Given the description of an element on the screen output the (x, y) to click on. 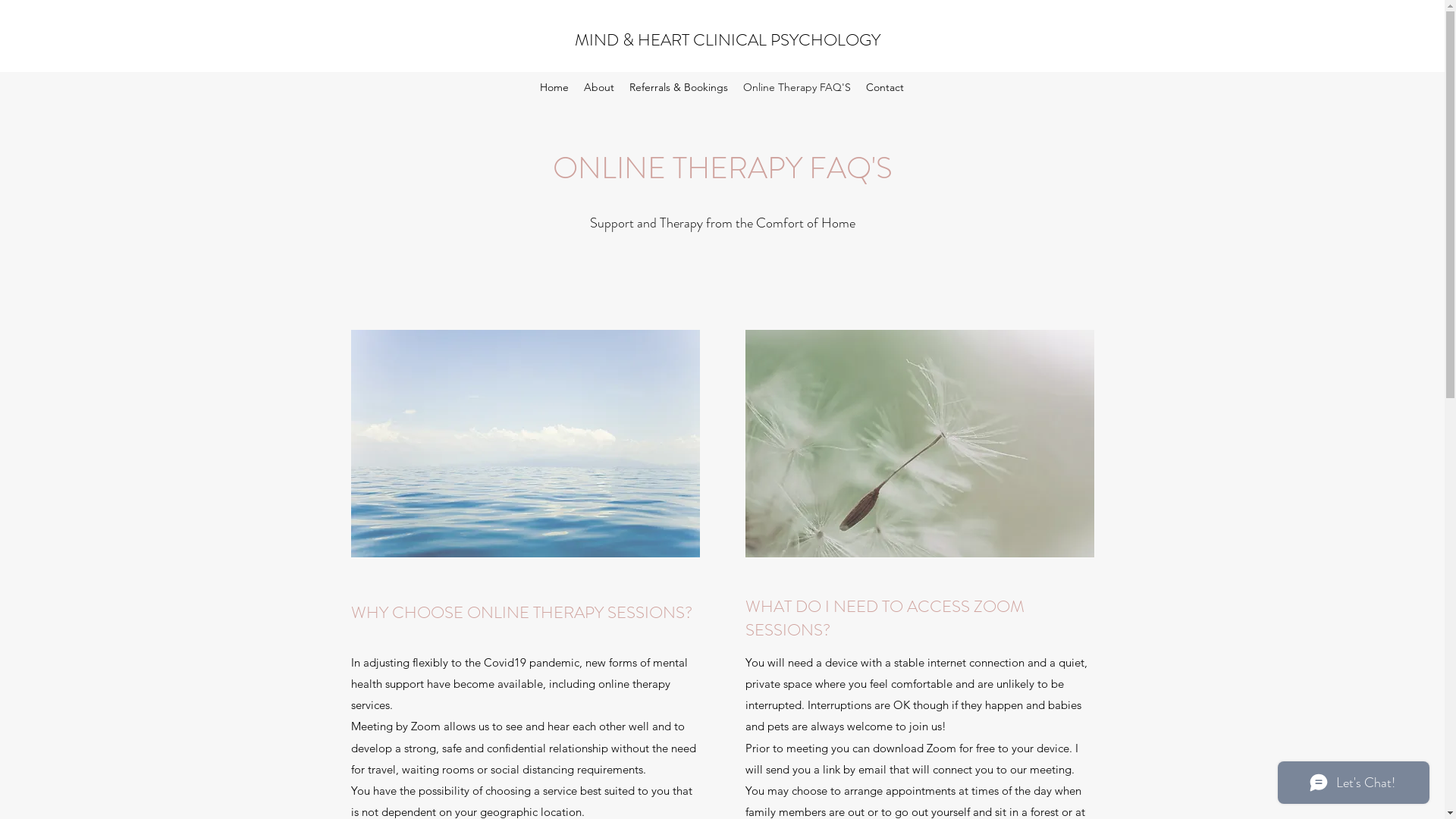
About Element type: text (598, 86)
MIND & HEART CLINICAL PSYCHOLOGY Element type: text (727, 39)
Online Therapy FAQ'S Element type: text (796, 86)
Home Element type: text (554, 86)
Referrals & Bookings Element type: text (678, 86)
Contact Element type: text (884, 86)
